Given the description of an element on the screen output the (x, y) to click on. 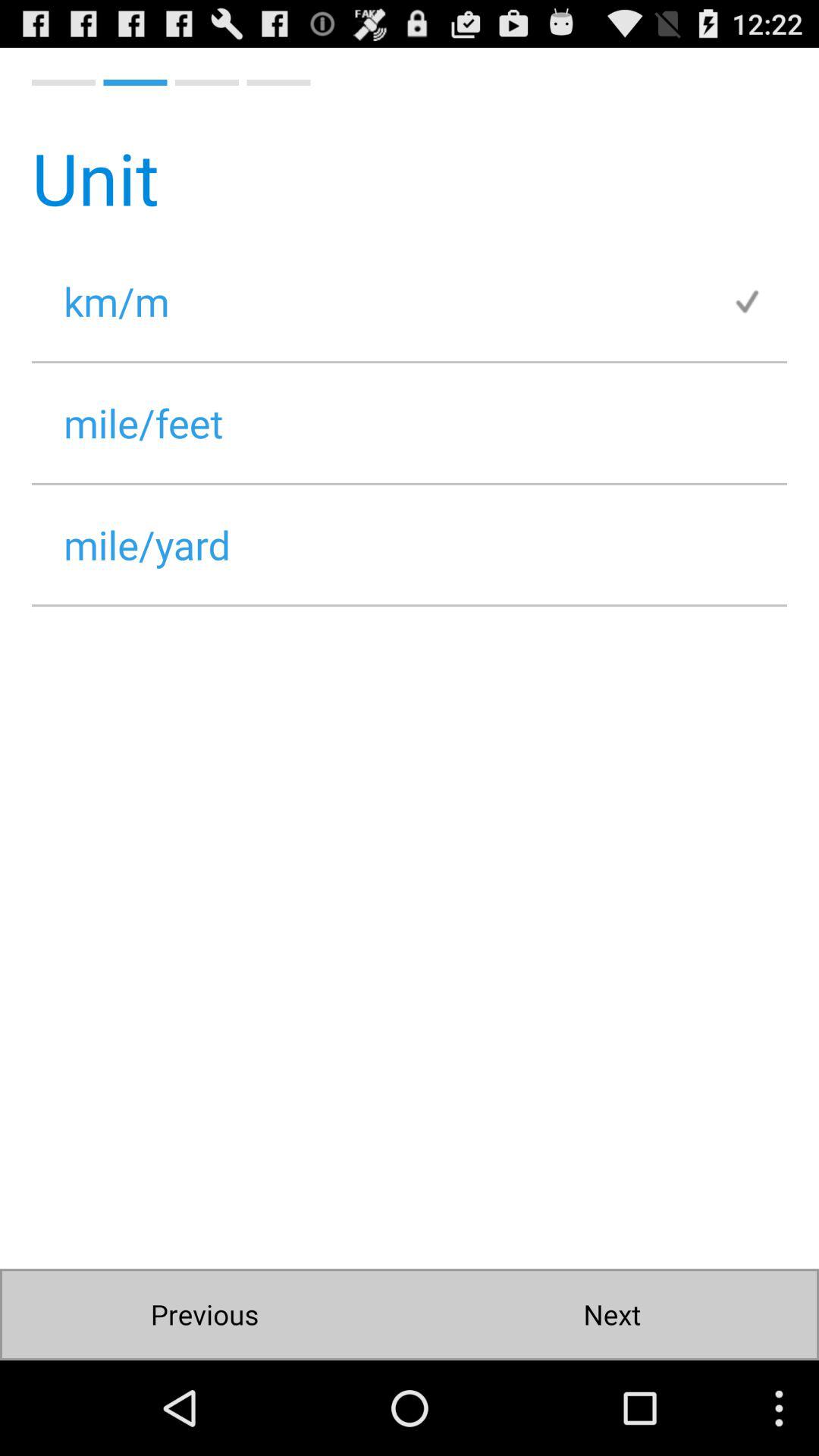
turn on app to the right of the km/m icon (759, 300)
